Given the description of an element on the screen output the (x, y) to click on. 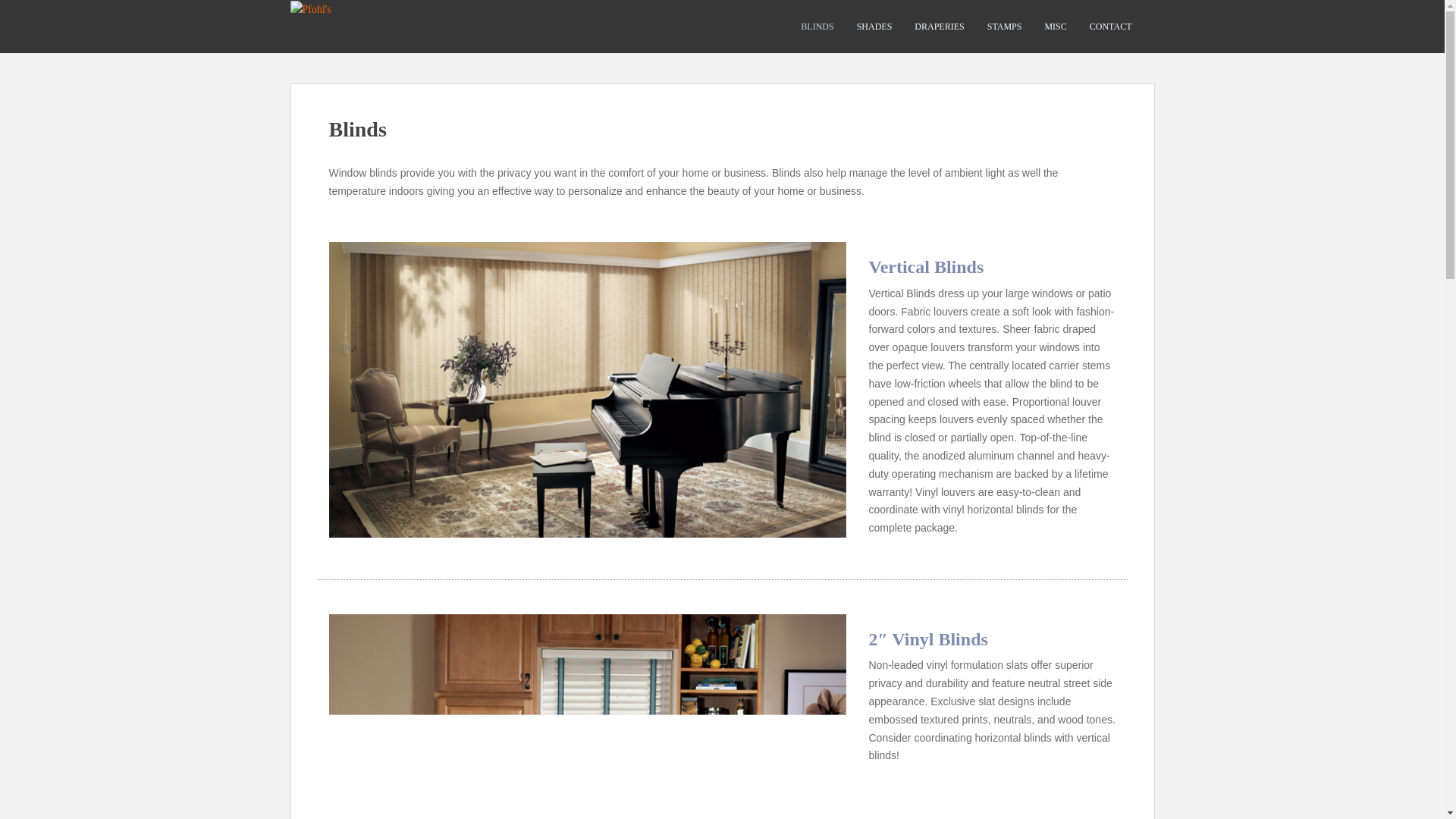
CONTACT (1110, 26)
DRAPERIES (938, 26)
STAMPS (1004, 26)
BLINDS (816, 26)
SHADES (874, 26)
